Given the description of an element on the screen output the (x, y) to click on. 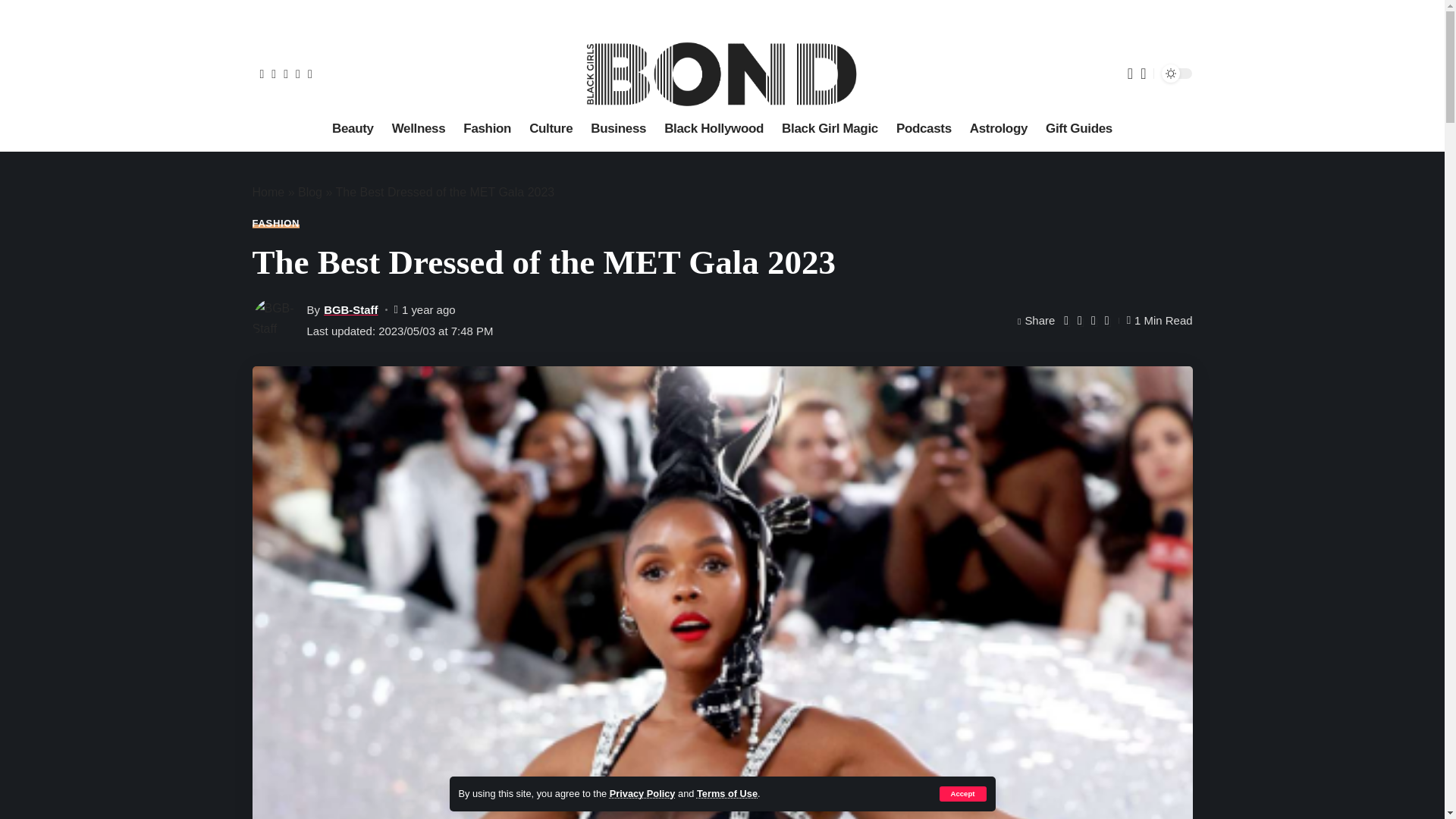
Culture (549, 128)
Accept (962, 793)
Terms of Use (727, 793)
Black Hollywood (714, 128)
Wellness (418, 128)
Privacy Policy (642, 793)
Business (617, 128)
Fashion (486, 128)
Beauty (352, 128)
